Given the description of an element on the screen output the (x, y) to click on. 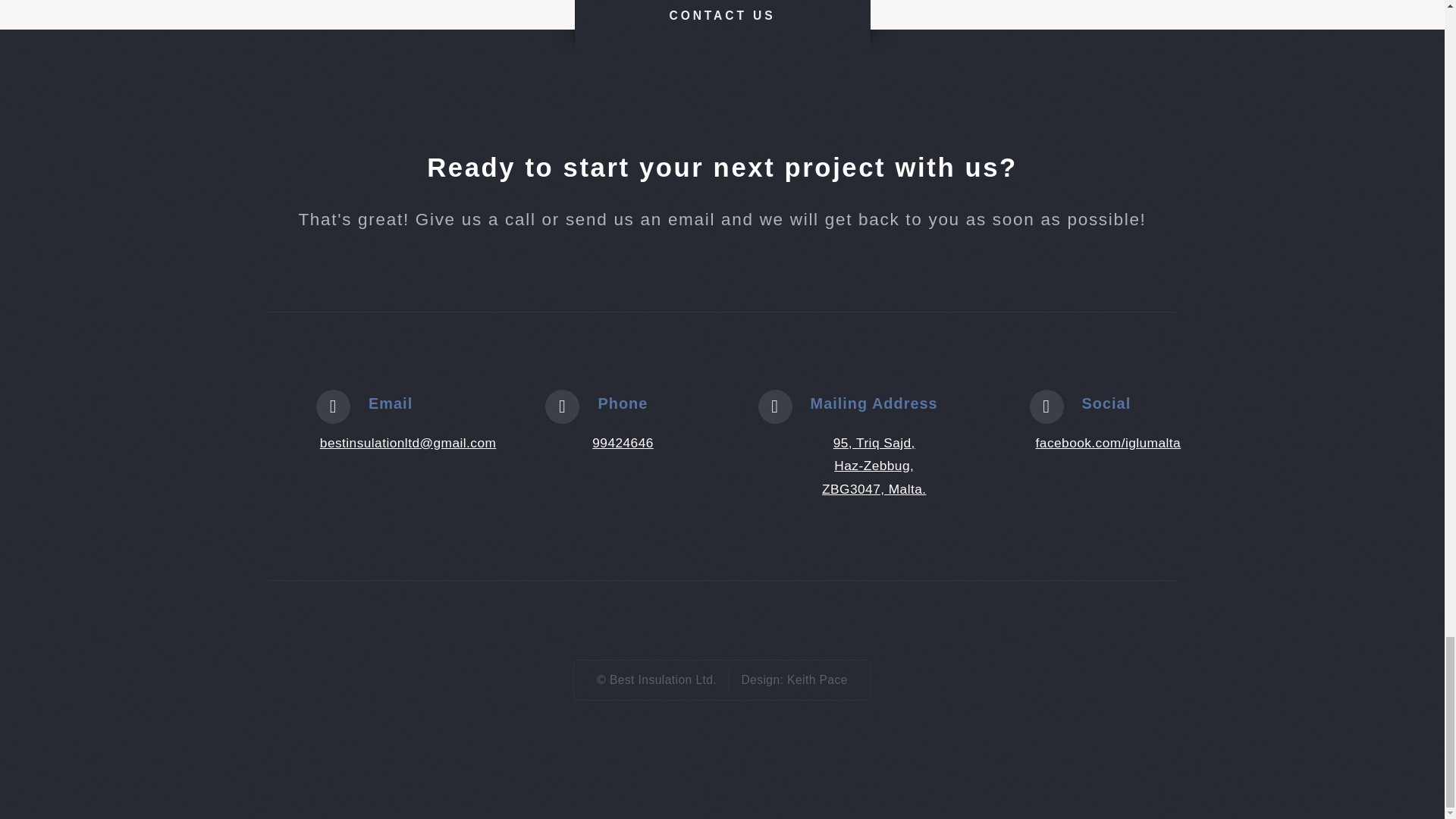
99424646 (622, 442)
